Given the description of an element on the screen output the (x, y) to click on. 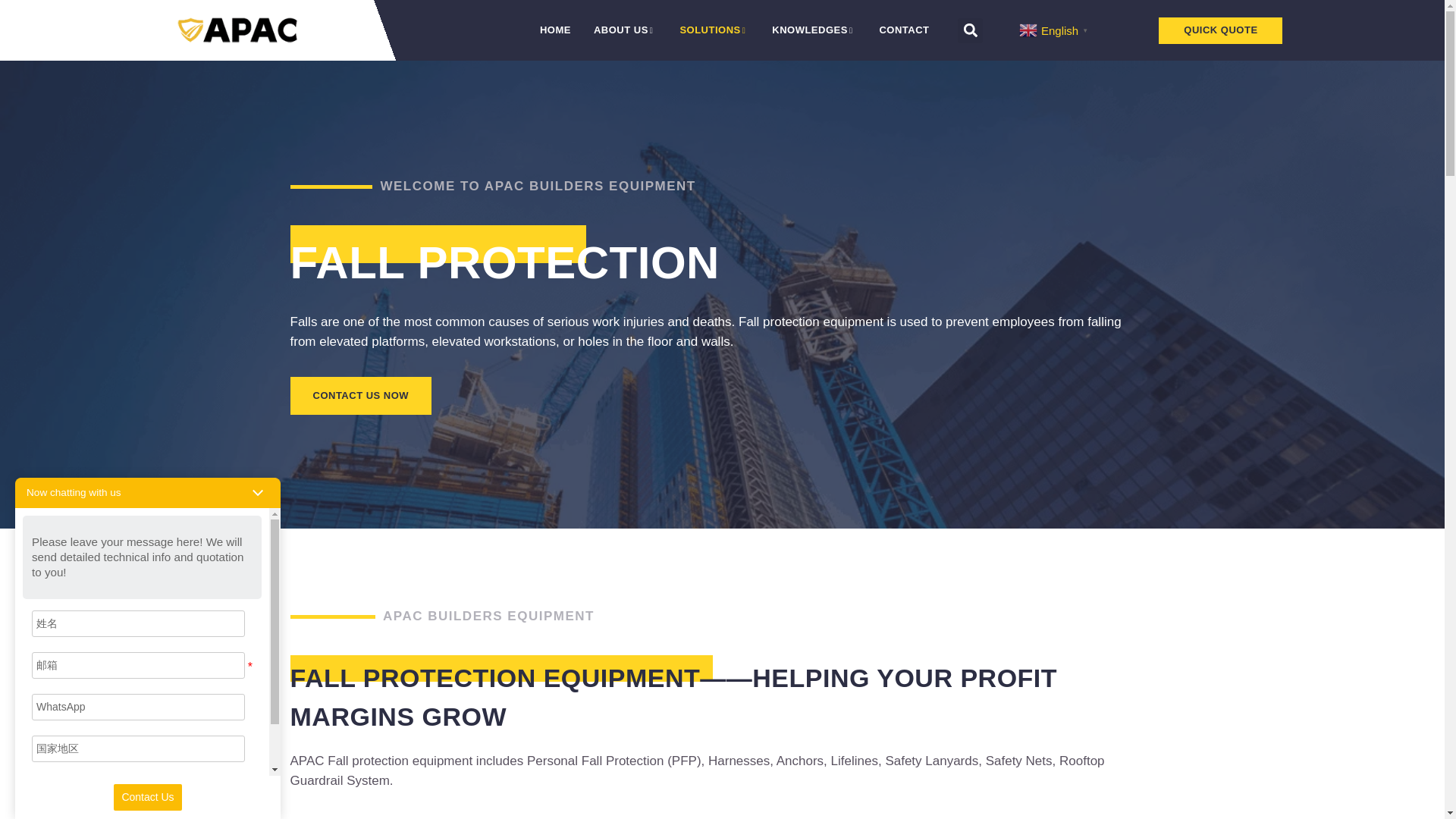
SOLUTIONS (714, 30)
ABOUT US (625, 30)
Now chatting with us (73, 492)
